Given the description of an element on the screen output the (x, y) to click on. 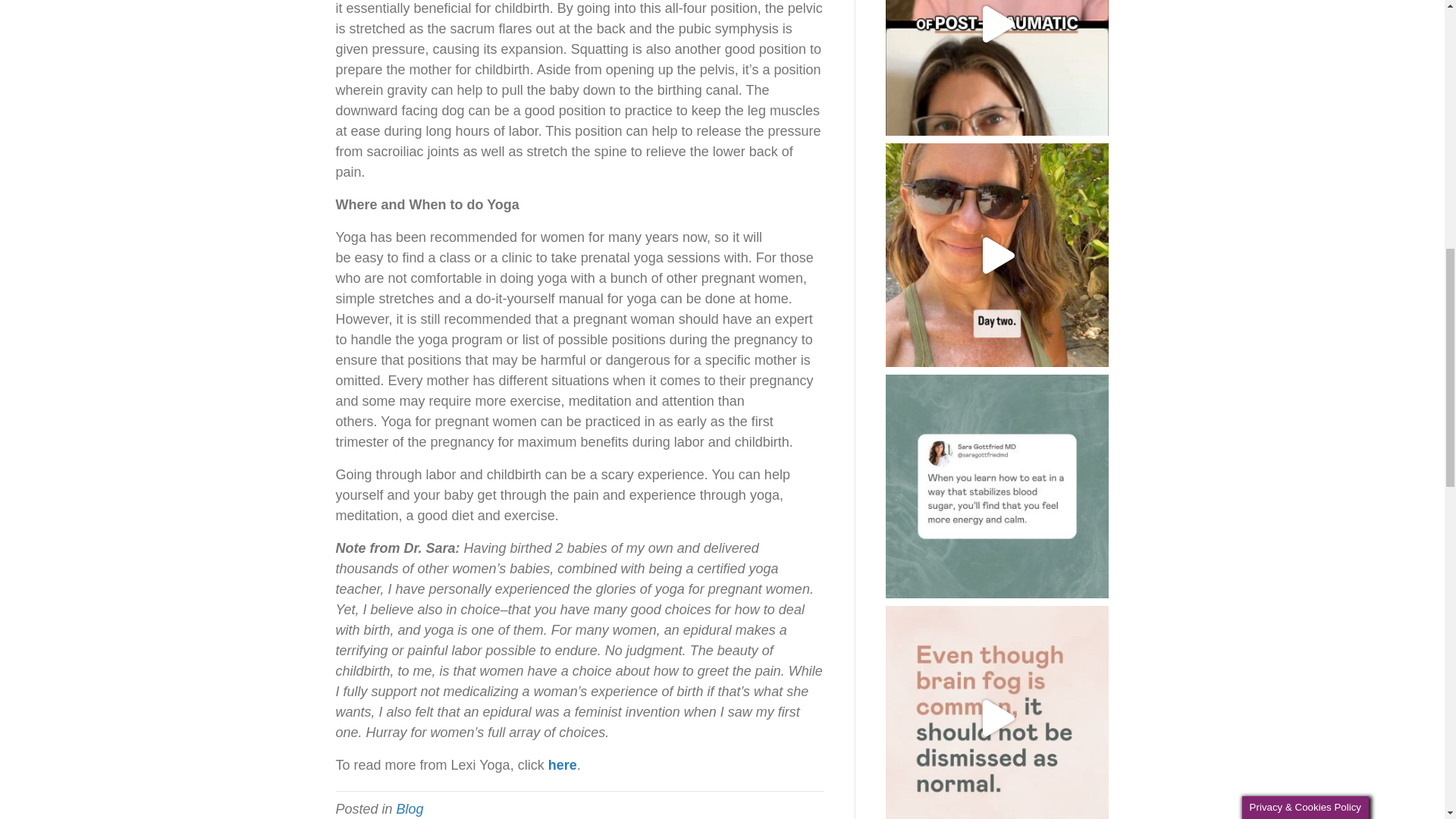
Blog (409, 808)
here (562, 765)
